Given the description of an element on the screen output the (x, y) to click on. 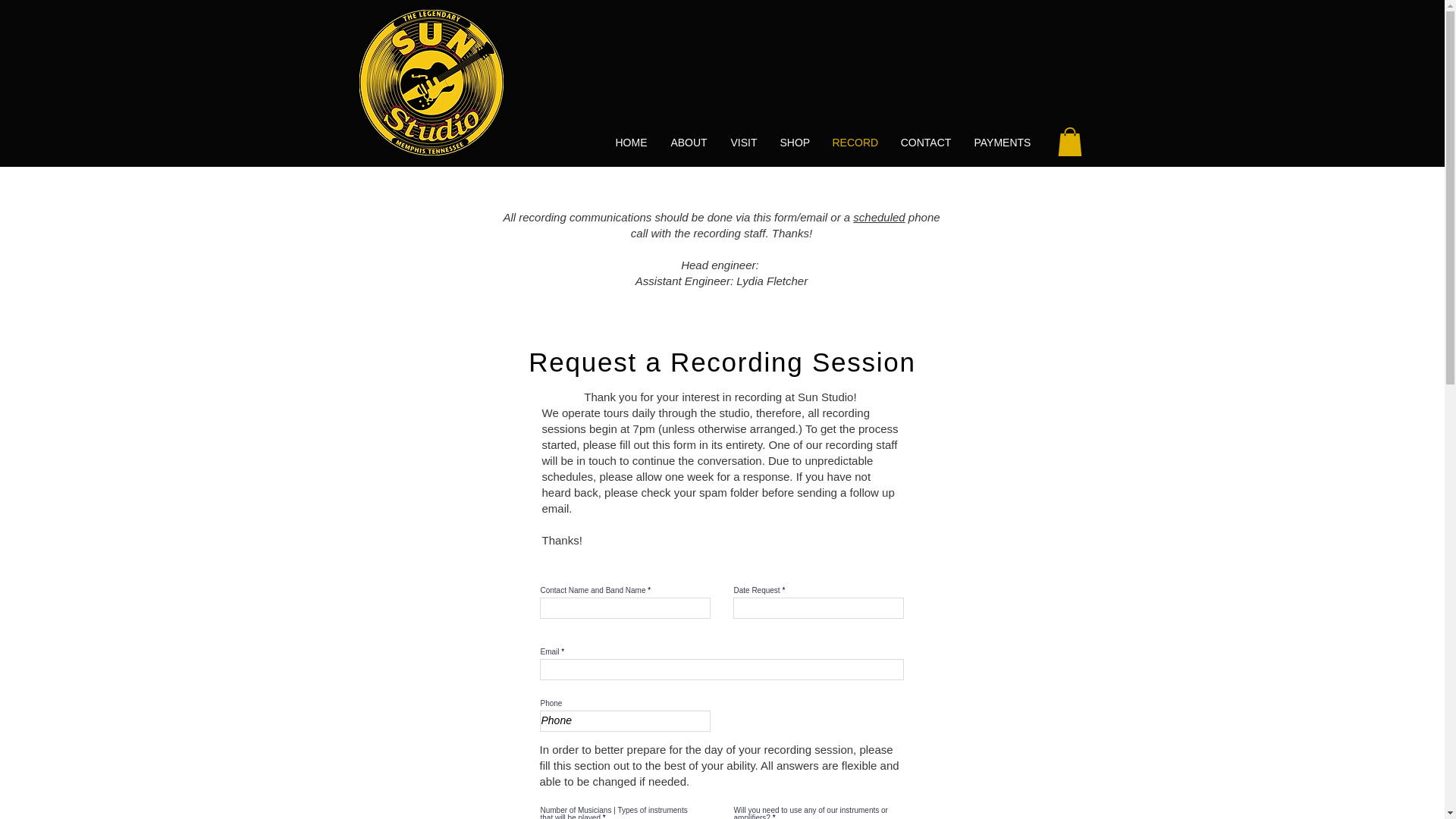
email (814, 216)
ABOUT (688, 142)
PAYMENTS (1002, 142)
HOME (631, 142)
SHOP (794, 142)
RECORD (854, 142)
CONTACT (925, 142)
VISIT (743, 142)
